Given the description of an element on the screen output the (x, y) to click on. 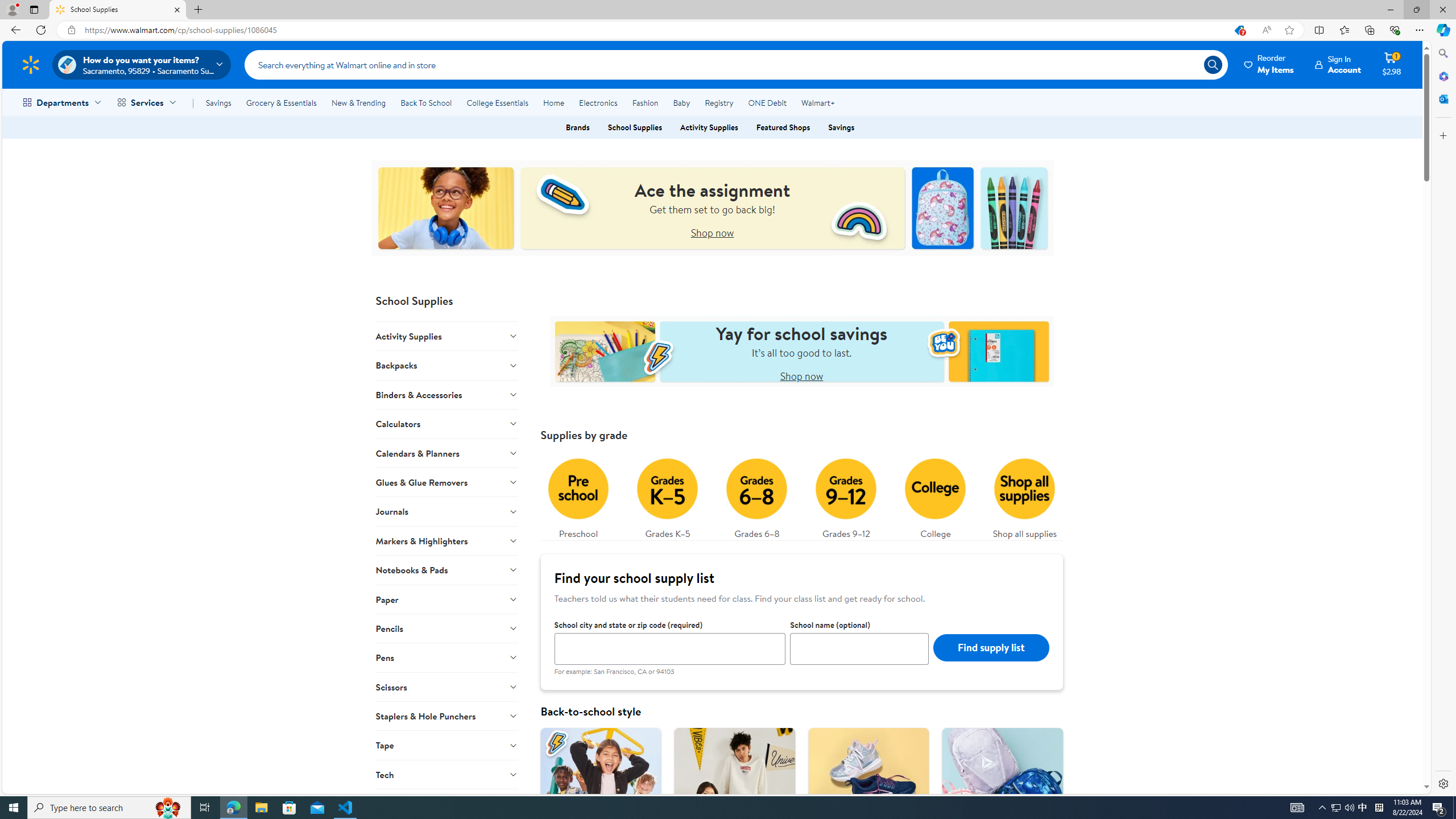
Notebooks & Pads (446, 569)
Back To School (425, 102)
Registry (718, 102)
Tech (446, 774)
Savings (217, 102)
Back To School (425, 102)
